Given the description of an element on the screen output the (x, y) to click on. 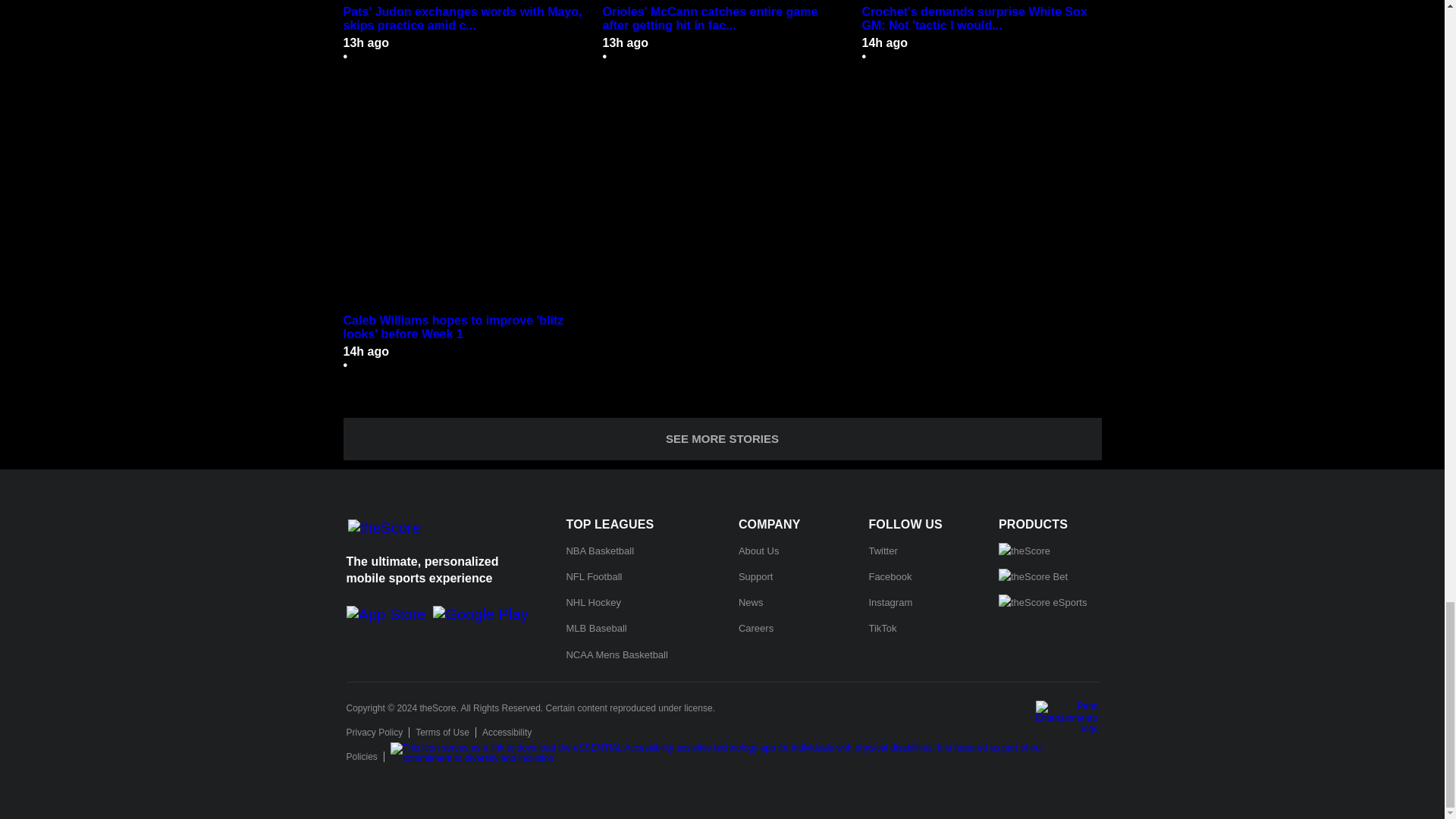
2024-07-29T22:46:21.000Z (624, 42)
2024-07-29T22:59:49.000Z (365, 42)
2024-07-29T22:19:39.000Z (365, 350)
Caleb Williams hopes to improve 'blitz looks' before Week 1 (462, 199)
2024-07-29T22:34:39.000Z (884, 42)
Caleb Williams hopes to improve 'blitz looks' before Week 1 (462, 327)
SEE MORE STORIES (721, 438)
Penn Entertainment (1067, 717)
